Given the description of an element on the screen output the (x, y) to click on. 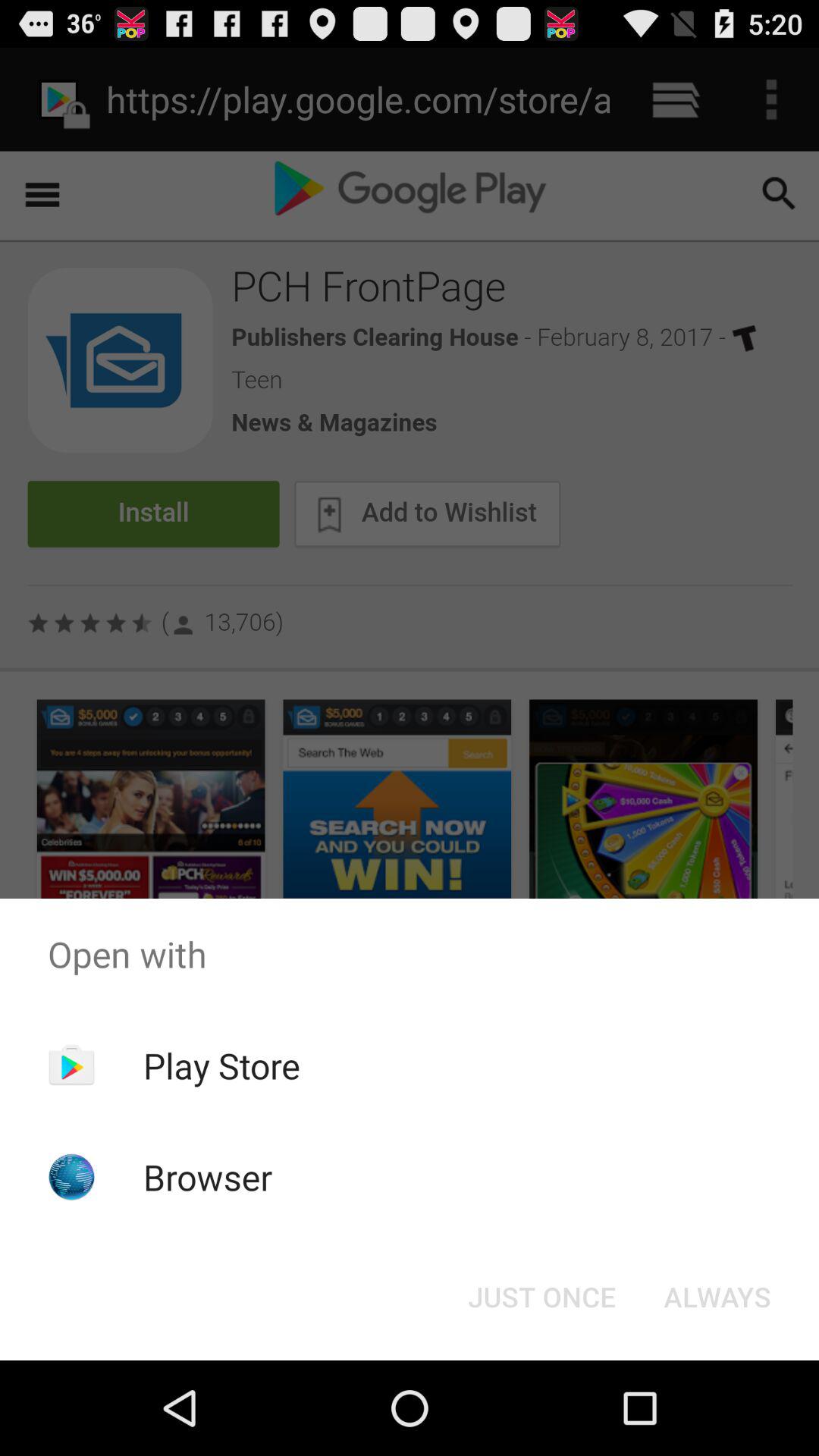
turn on icon to the right of the just once button (717, 1296)
